Given the description of an element on the screen output the (x, y) to click on. 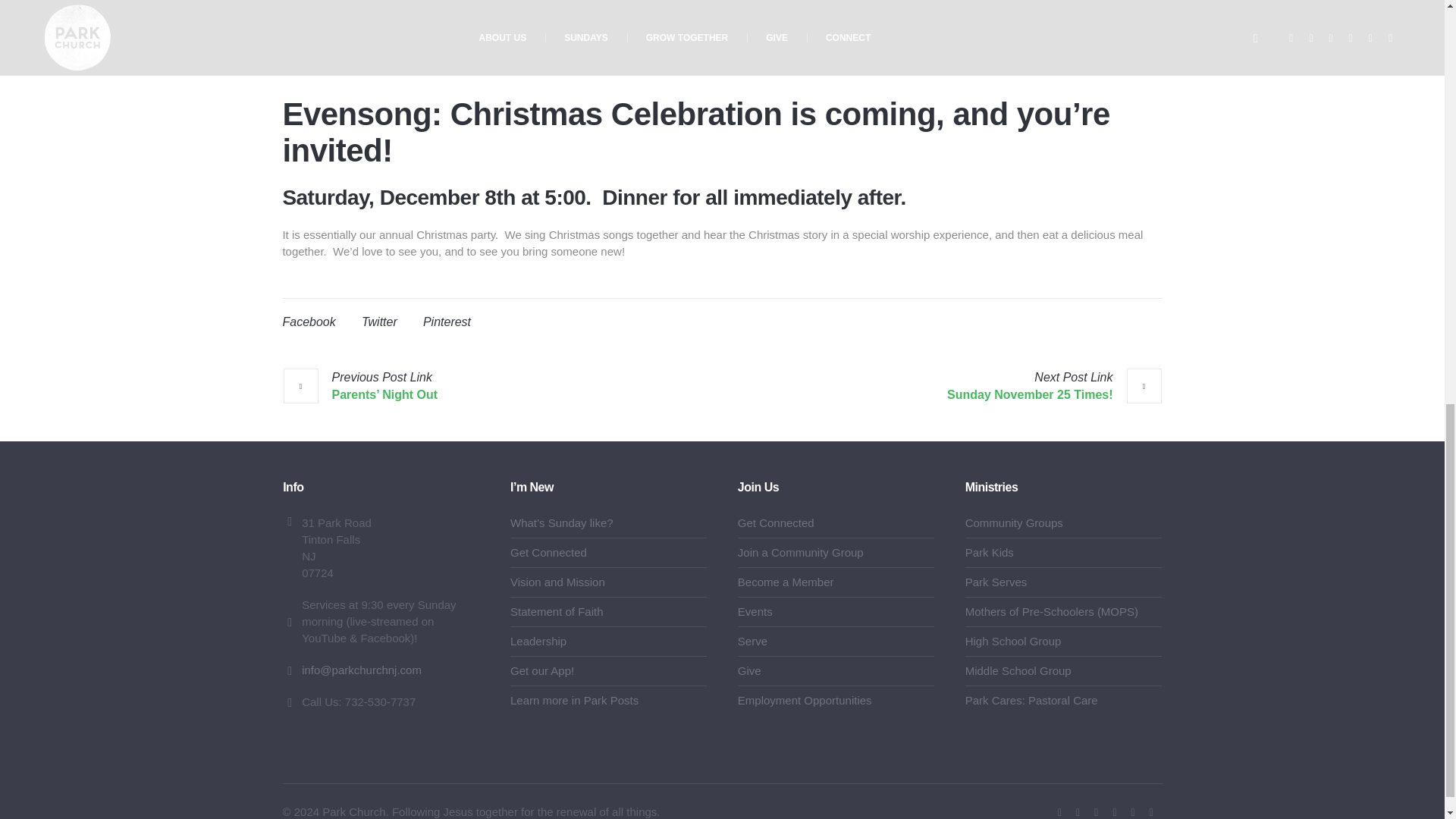
Pinterest (446, 321)
Evensong: Christmas Celebration (721, 38)
Vision and Mission (558, 581)
Statement of Faith (557, 611)
Facebook (1059, 812)
Twitter (1096, 812)
Sunday November 25 Times! (1054, 385)
Get Connected (548, 552)
Get our App! (542, 670)
Leadership (538, 640)
Facebook (308, 321)
Twitter (379, 321)
YouTube (1078, 812)
